Given the description of an element on the screen output the (x, y) to click on. 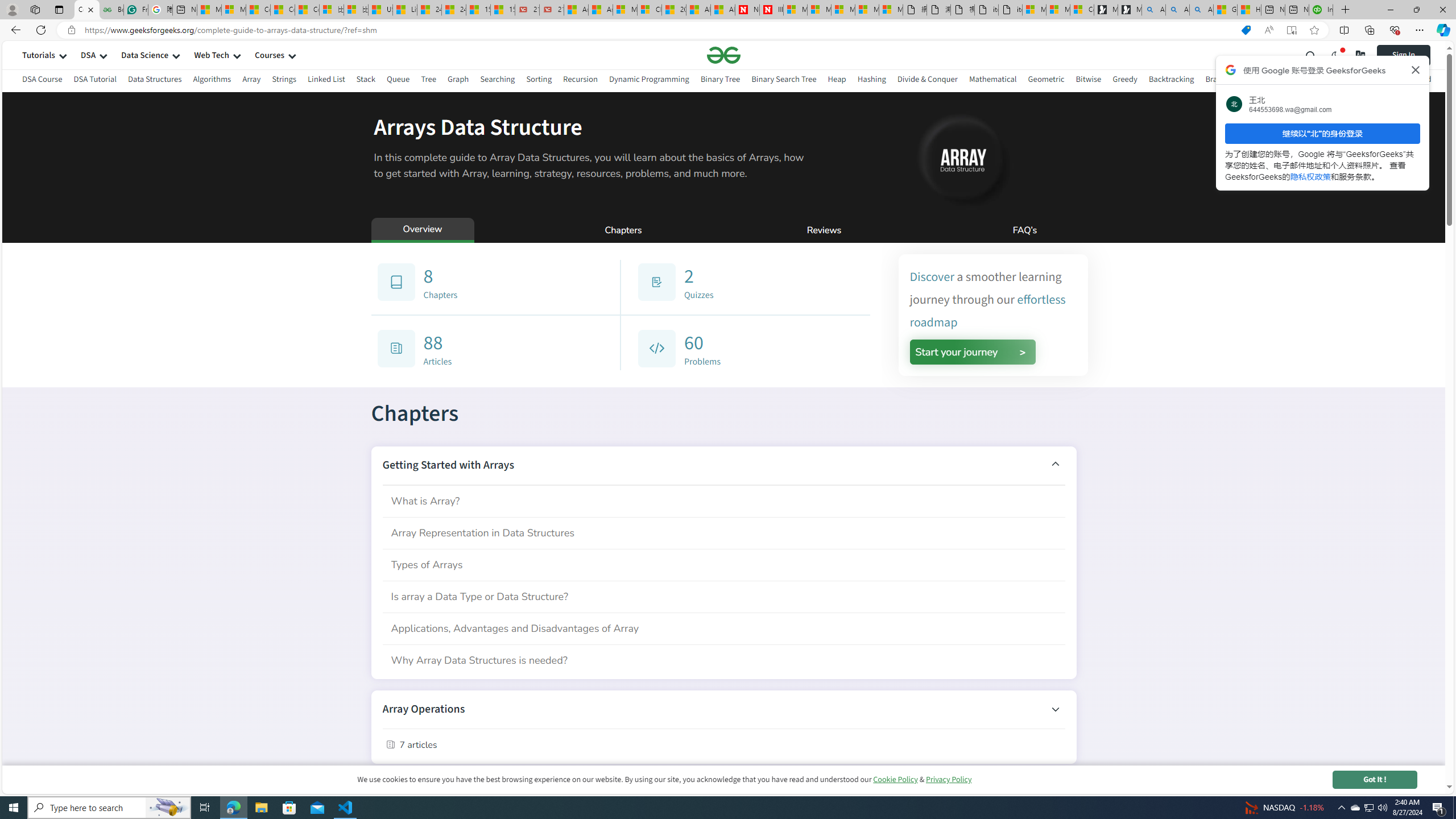
Geometric (1046, 80)
Data Structures (154, 80)
Graph (457, 80)
Sorting (538, 80)
Stack (365, 79)
Array (250, 80)
Strings (283, 79)
Randomized (1409, 80)
